Given the description of an element on the screen output the (x, y) to click on. 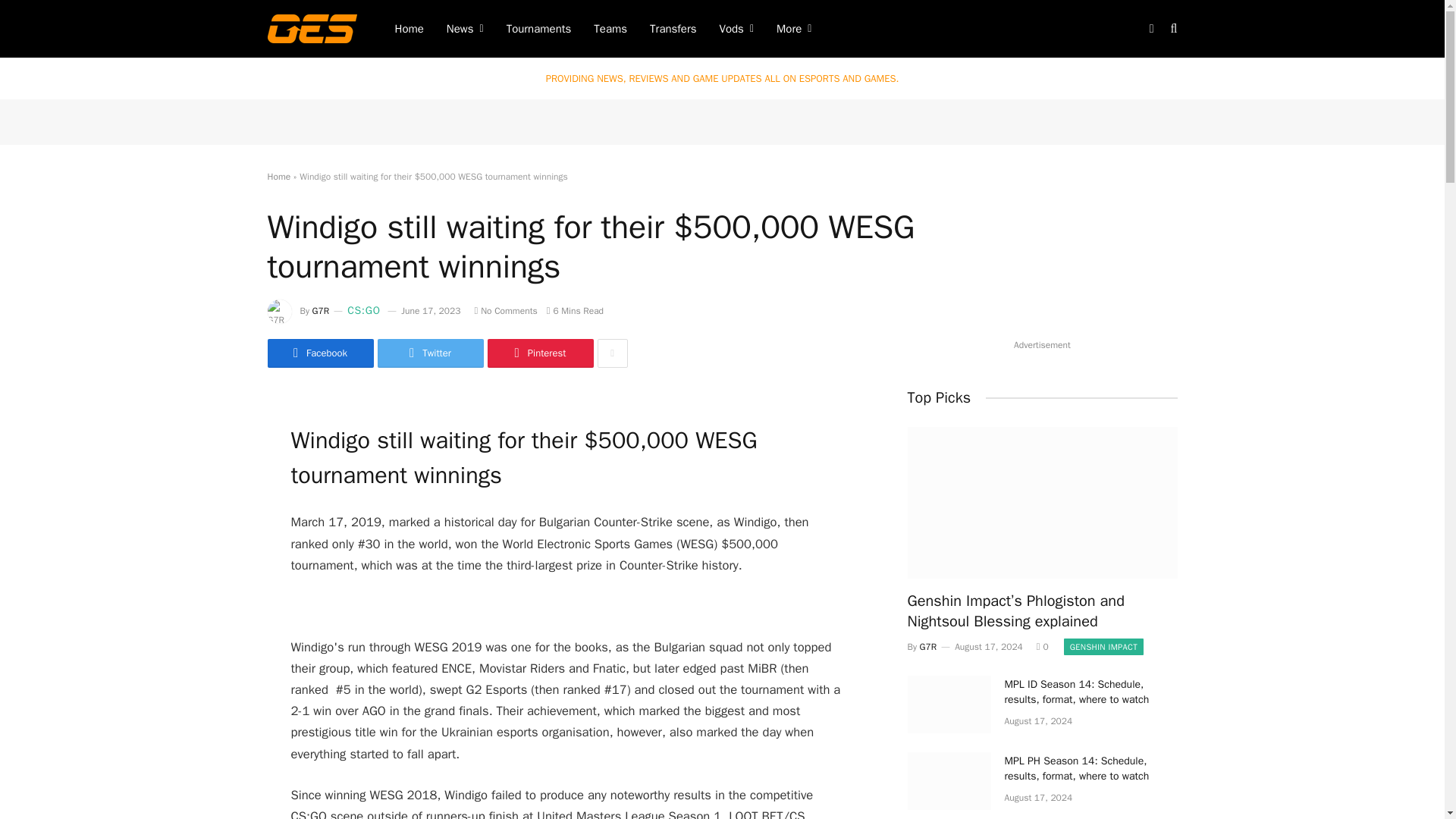
Esports Guides and Esports News (311, 28)
Share on Facebook (319, 353)
Switch to Dark Design - easier on eyes. (1151, 28)
Posts by G7R (321, 310)
